Given the description of an element on the screen output the (x, y) to click on. 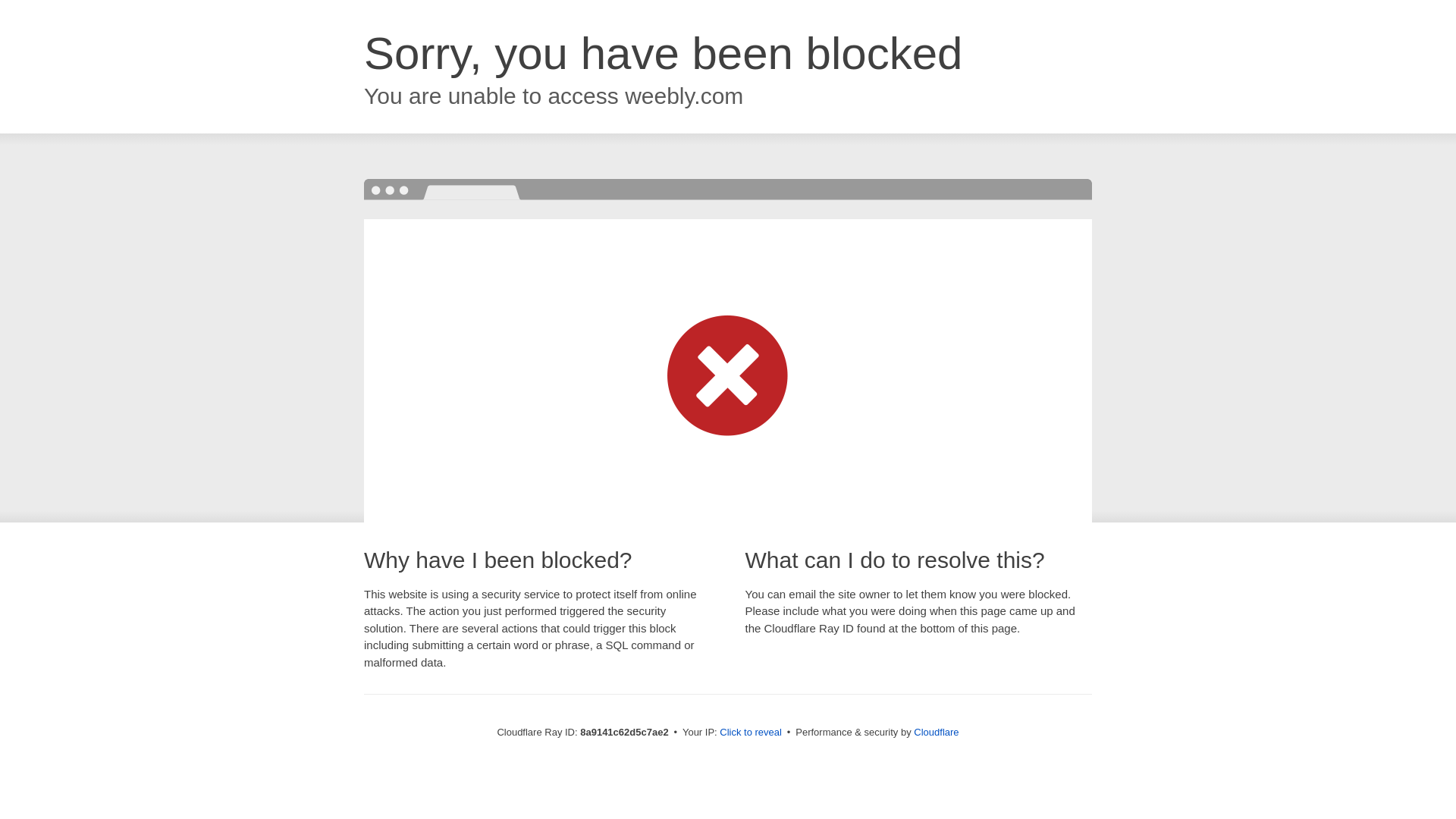
Cloudflare (936, 731)
Click to reveal (750, 732)
